Given the description of an element on the screen output the (x, y) to click on. 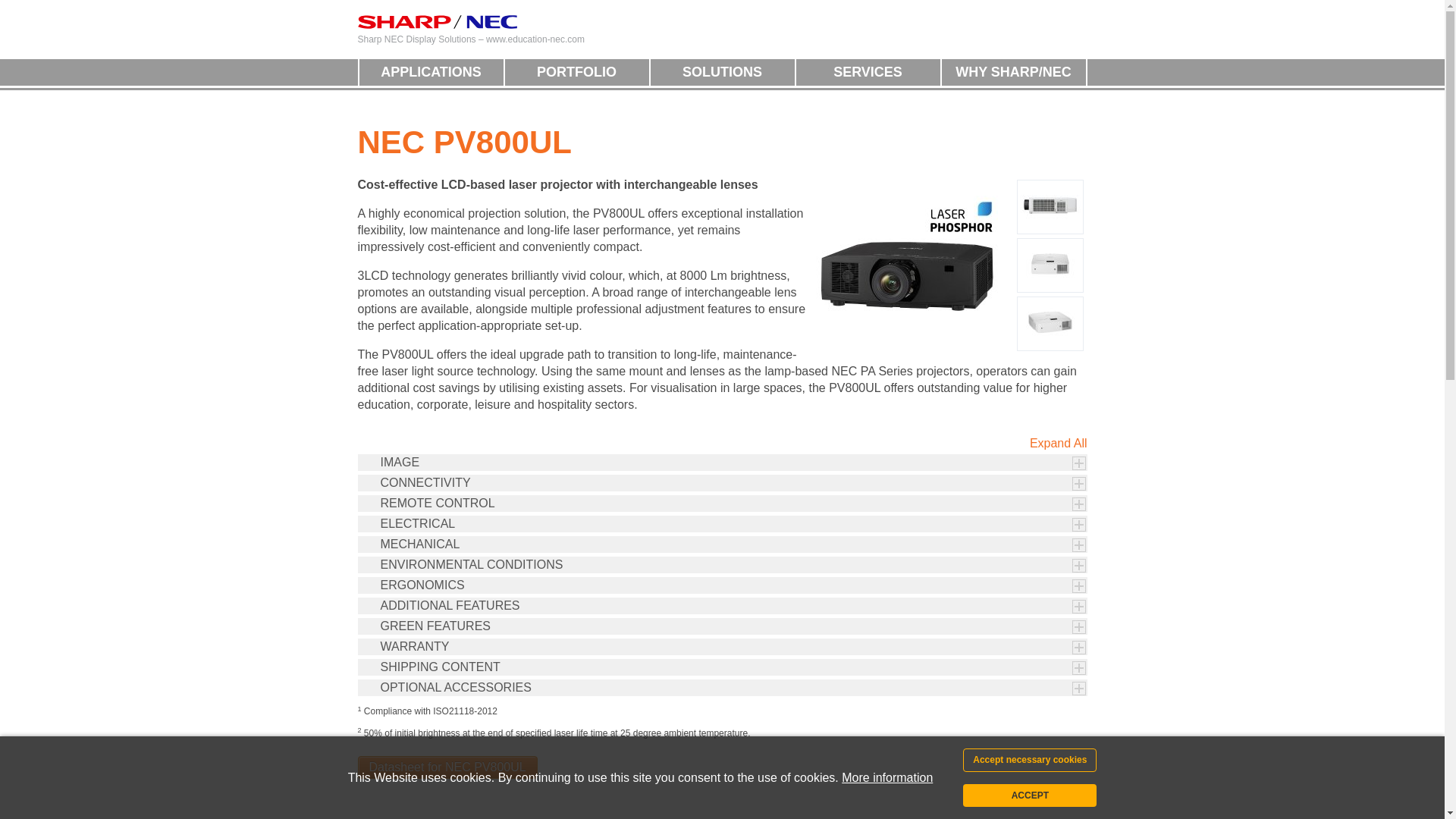
Datasheet for NEC PV800UL (447, 766)
Home (437, 21)
APPLICATIONS (431, 71)
Expand All (1058, 442)
Open in new window (447, 766)
PORTFOLIO (577, 71)
SOLUTIONS (722, 71)
SERVICES (868, 71)
